Given the description of an element on the screen output the (x, y) to click on. 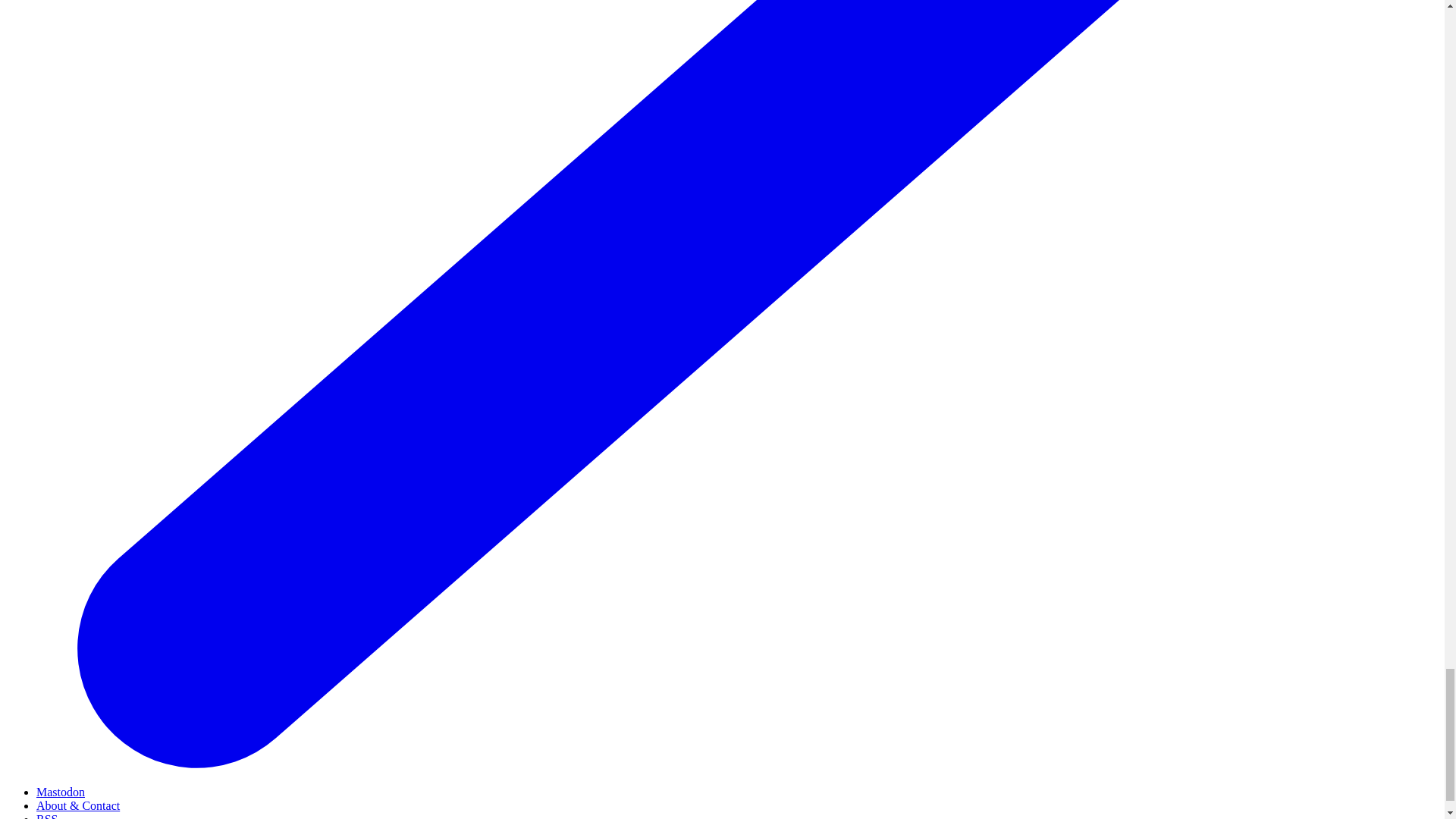
RSS (47, 816)
Mastodon (60, 791)
